Given the description of an element on the screen output the (x, y) to click on. 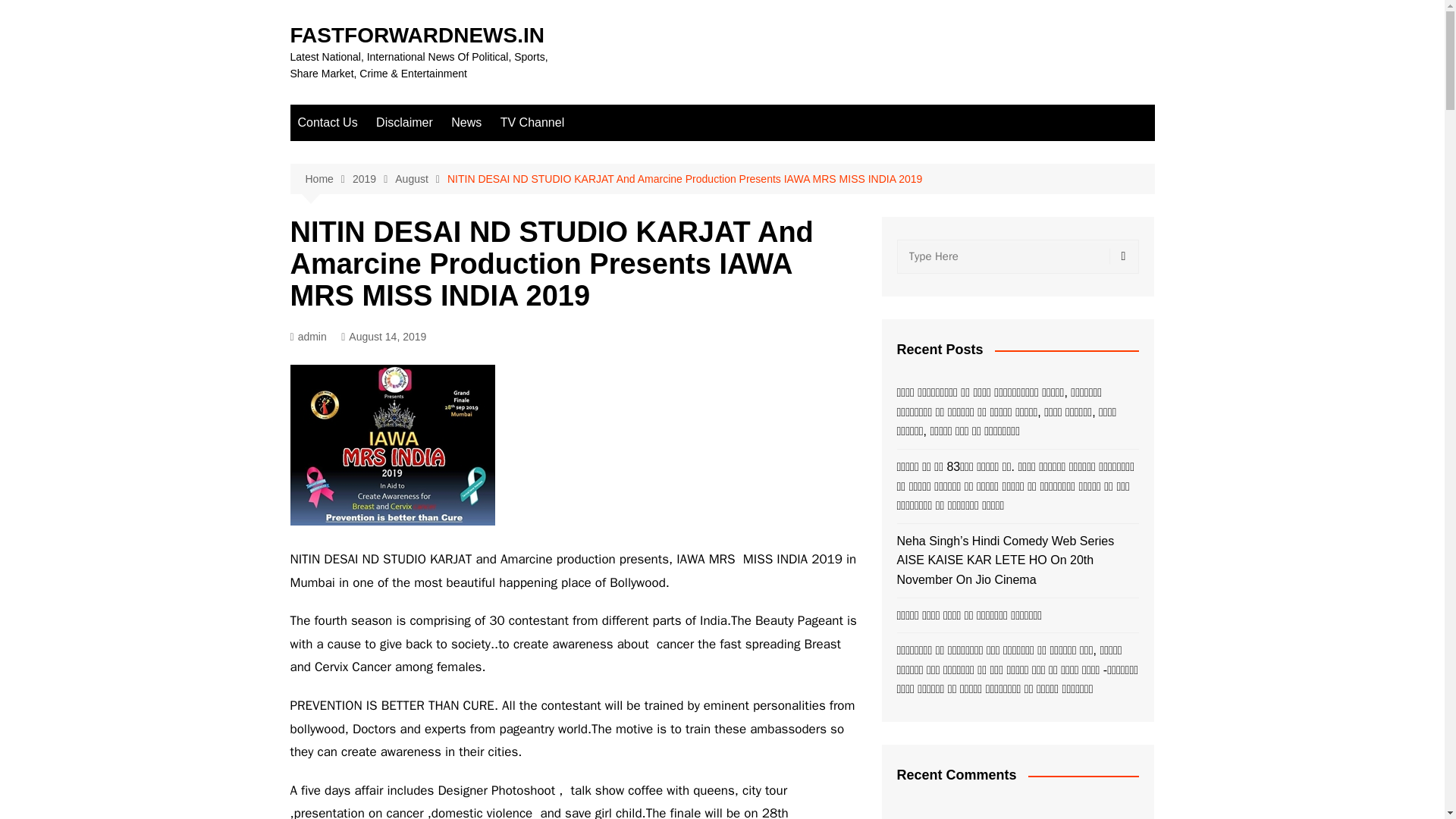
Contact Us (327, 122)
admin (307, 336)
Disclaimer (404, 122)
TV Channel (532, 122)
2019 (373, 179)
Home (328, 179)
August 14, 2019 (383, 336)
FASTFORWARDNEWS.IN (416, 34)
News (466, 122)
August (420, 179)
